Given the description of an element on the screen output the (x, y) to click on. 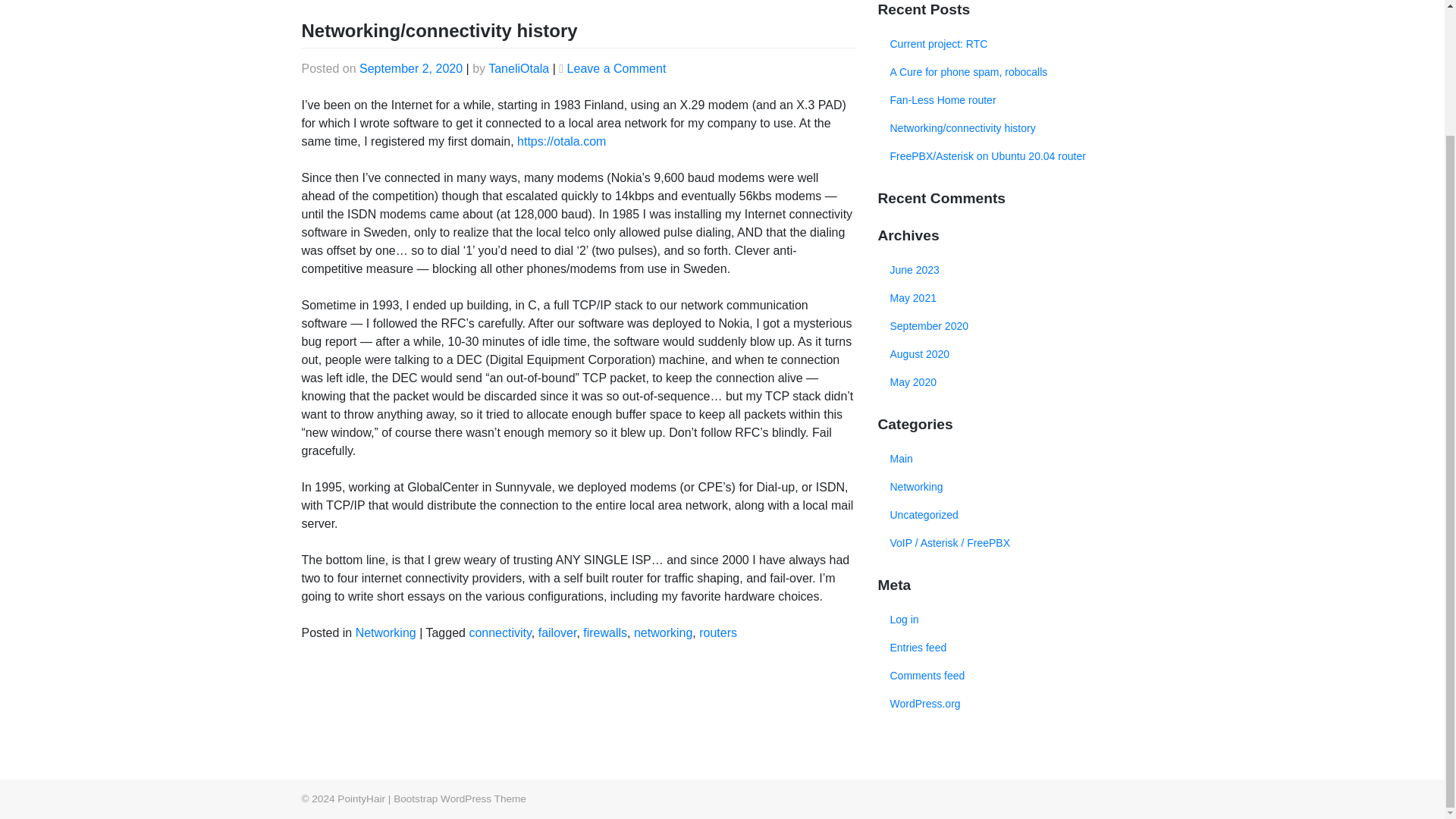
September 2020 (1009, 326)
September 2, 2020 (411, 68)
May 2020 (1009, 382)
failover (557, 632)
Bootstrap WordPress Theme (459, 798)
Uncategorized (924, 515)
August 2020 (1009, 354)
Fan-Less Home router (1009, 100)
June 2023 (1009, 270)
Current project: RTC (1009, 44)
connectivity (499, 632)
May 2021 (1009, 298)
Networking (916, 487)
Comments feed (1009, 675)
routers (717, 632)
